Given the description of an element on the screen output the (x, y) to click on. 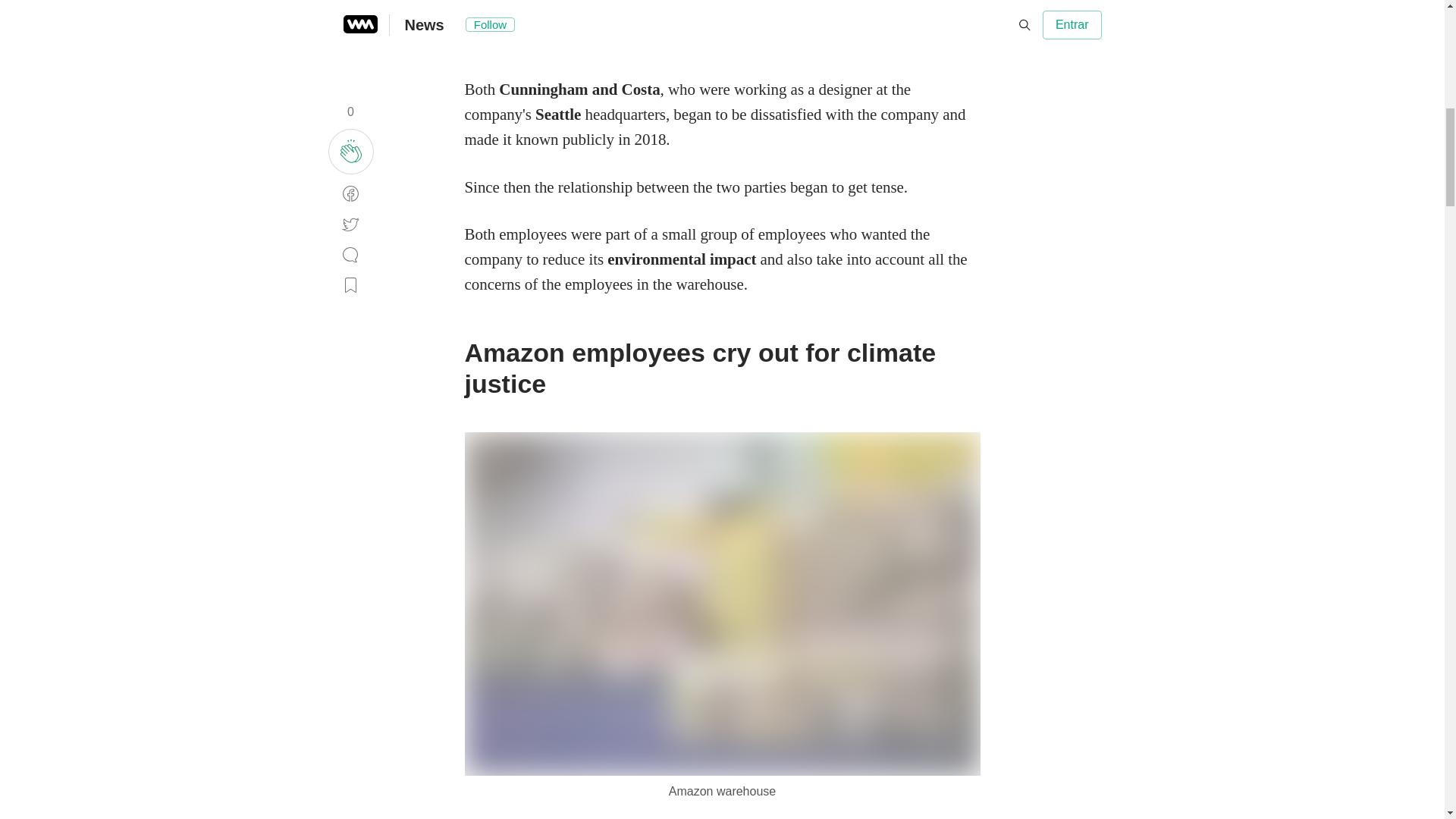
Advertisement (721, 27)
